Given the description of an element on the screen output the (x, y) to click on. 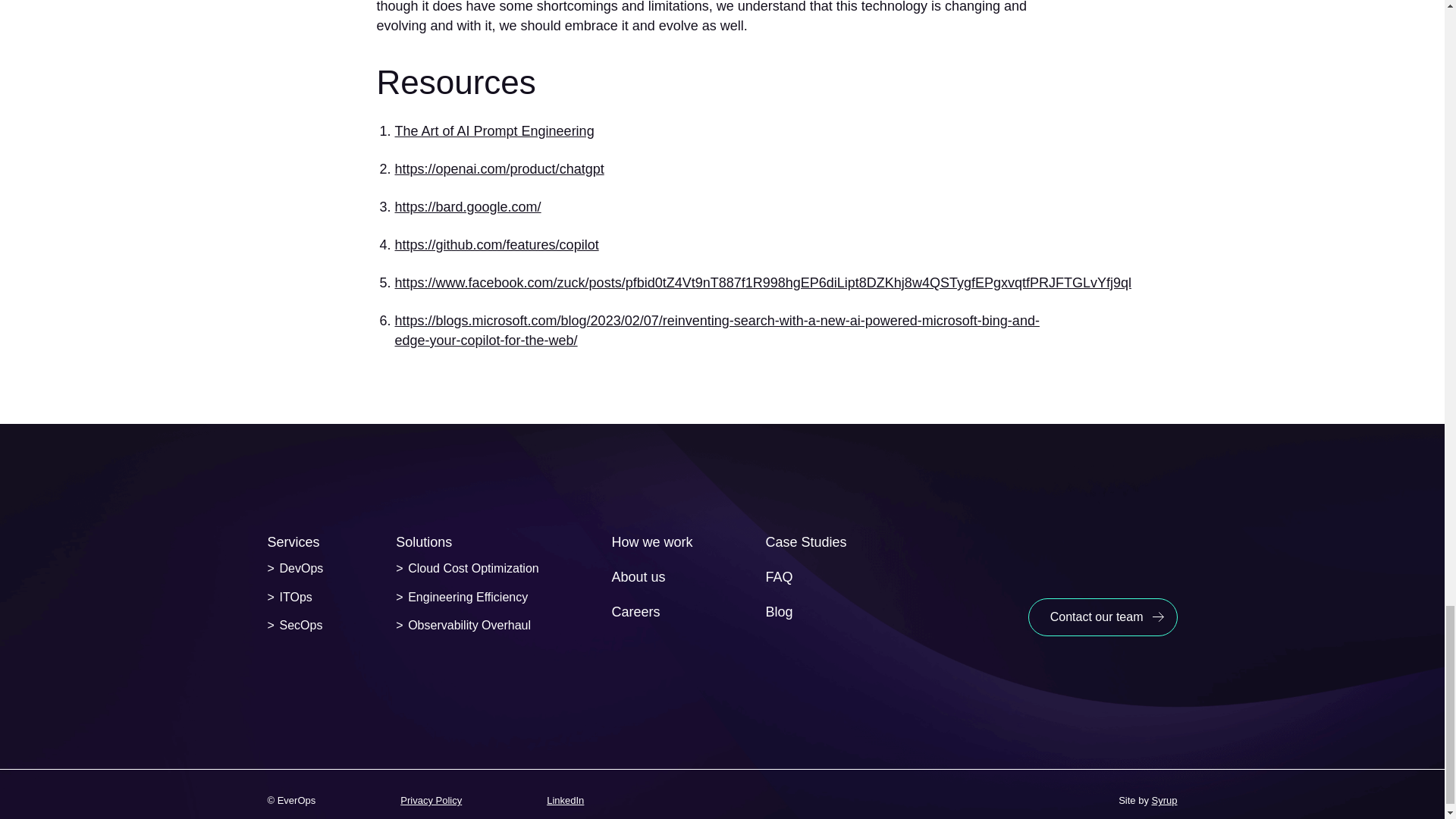
About us (638, 576)
Solutions (423, 541)
Contact our team (1102, 616)
Services (292, 541)
FAQ (778, 576)
ITOps (288, 597)
Cloud Cost Optimization (467, 568)
DevOps (294, 568)
Case Studies (805, 541)
SecOps (293, 625)
Careers (636, 611)
Observability Overhaul (463, 625)
The Art of AI Prompt Engineering (494, 130)
Engineering Efficiency (461, 597)
How we work (652, 541)
